Given the description of an element on the screen output the (x, y) to click on. 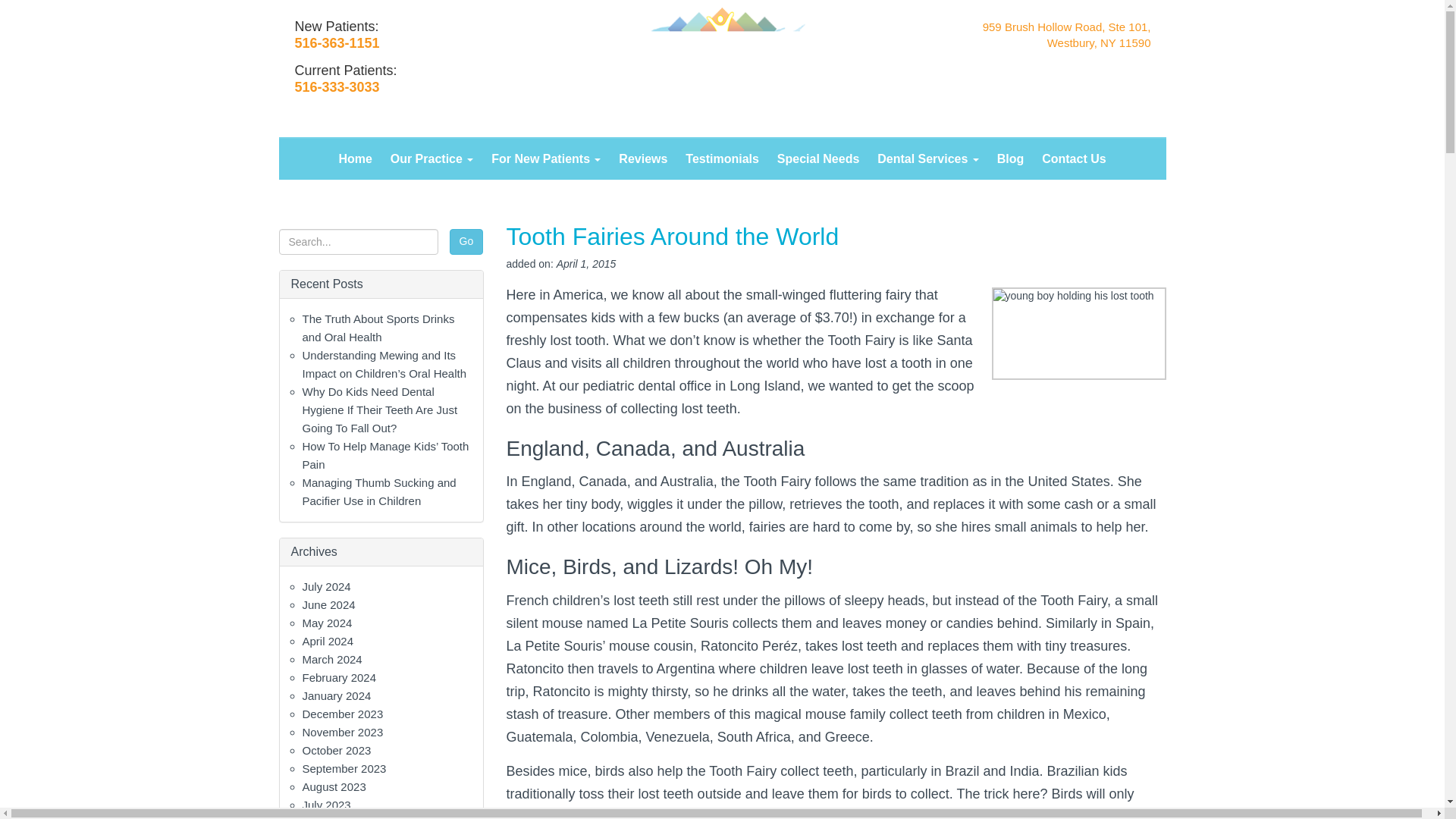
Managing Thumb Sucking and Pacifier Use in Children (378, 490)
Reviews (643, 159)
March 2024 (331, 658)
February 2024 (338, 676)
Special Needs (818, 159)
516-363-1151 (336, 43)
Go (465, 241)
June 2024 (328, 604)
April 2024 (327, 640)
For New Patients (545, 159)
